Given the description of an element on the screen output the (x, y) to click on. 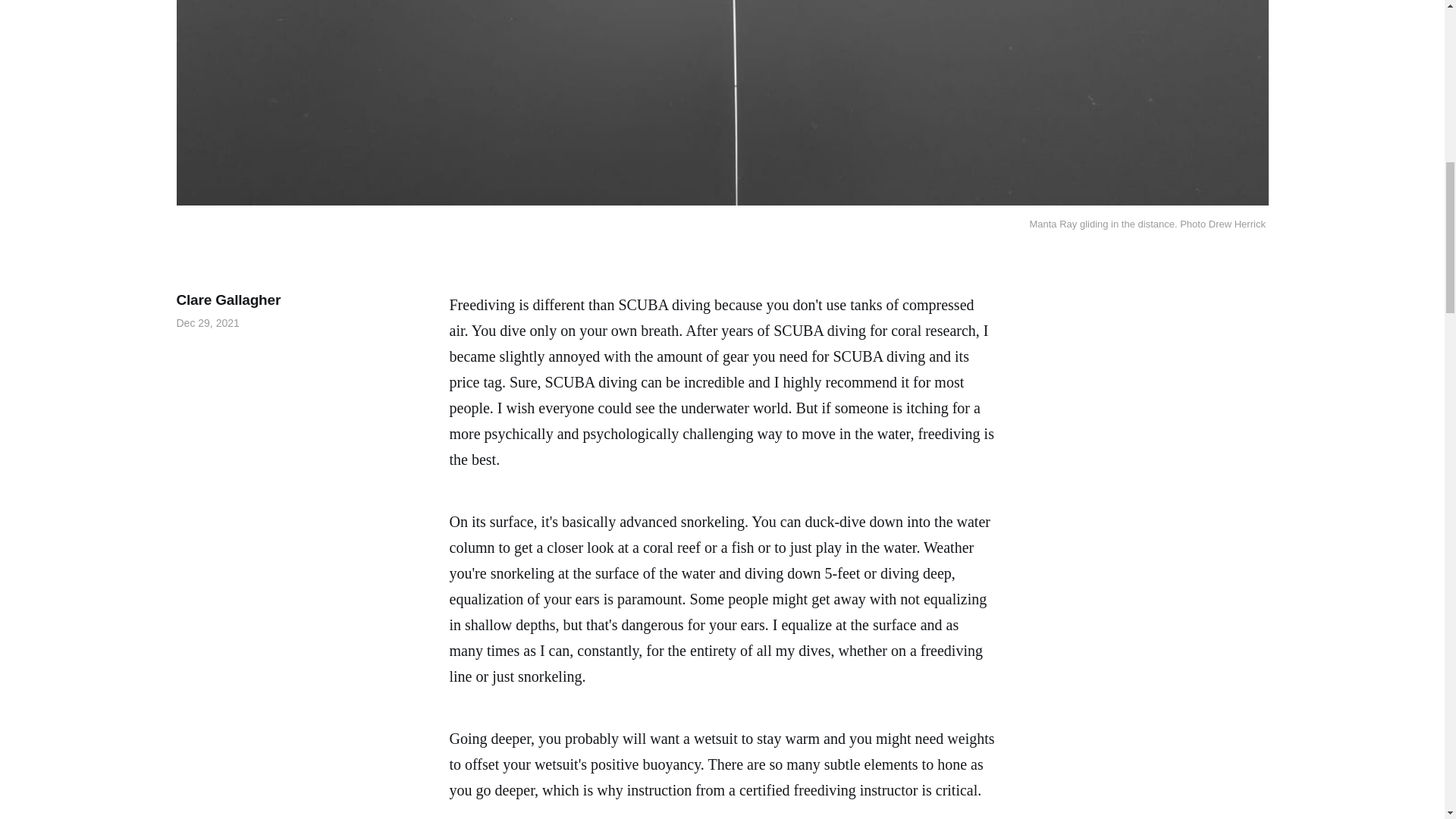
Clare Gallagher (228, 299)
